Given the description of an element on the screen output the (x, y) to click on. 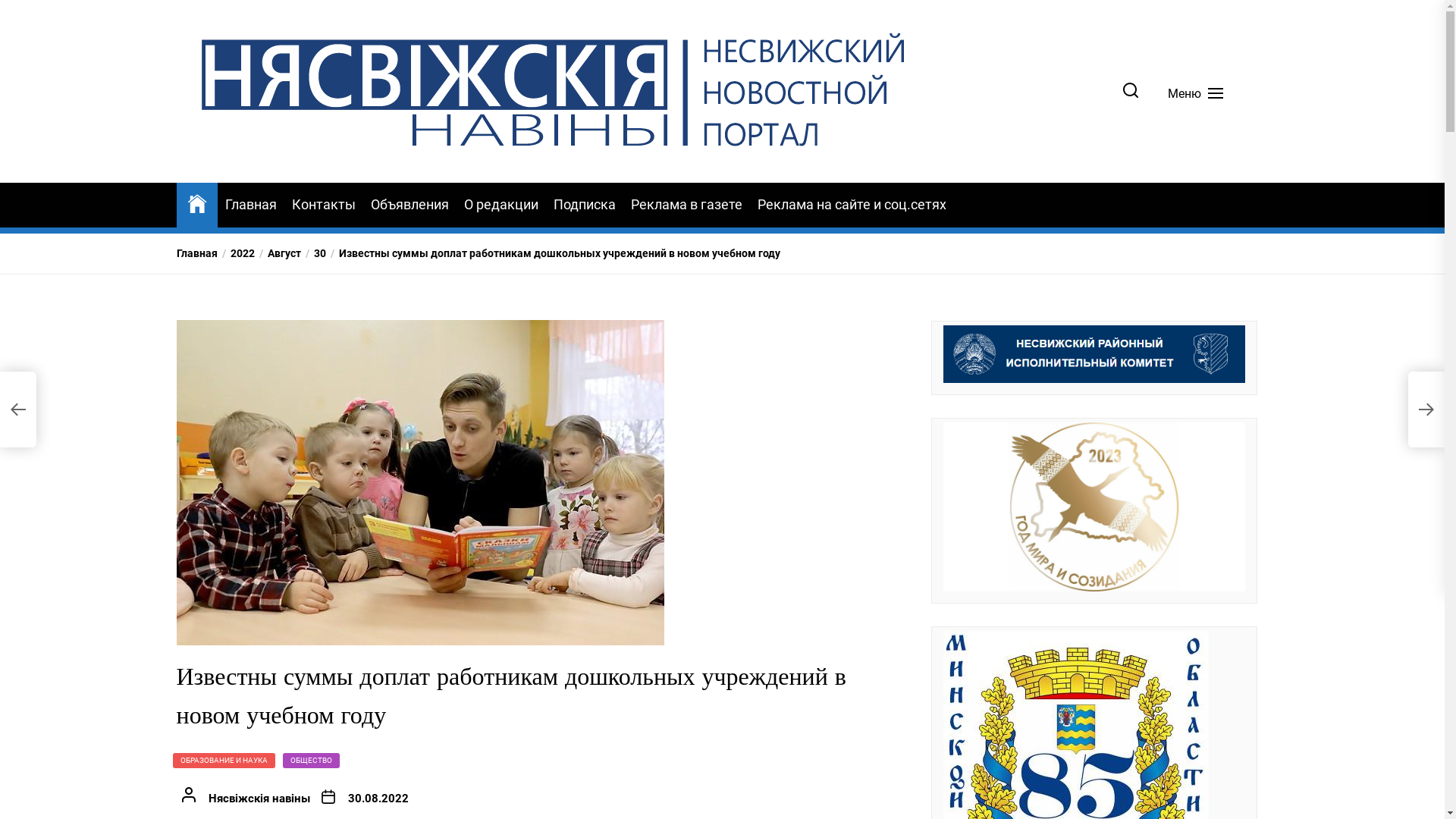
30.08.2022 Element type: text (378, 798)
2022 Element type: text (235, 253)
30 Element type: text (312, 253)
